Given the description of an element on the screen output the (x, y) to click on. 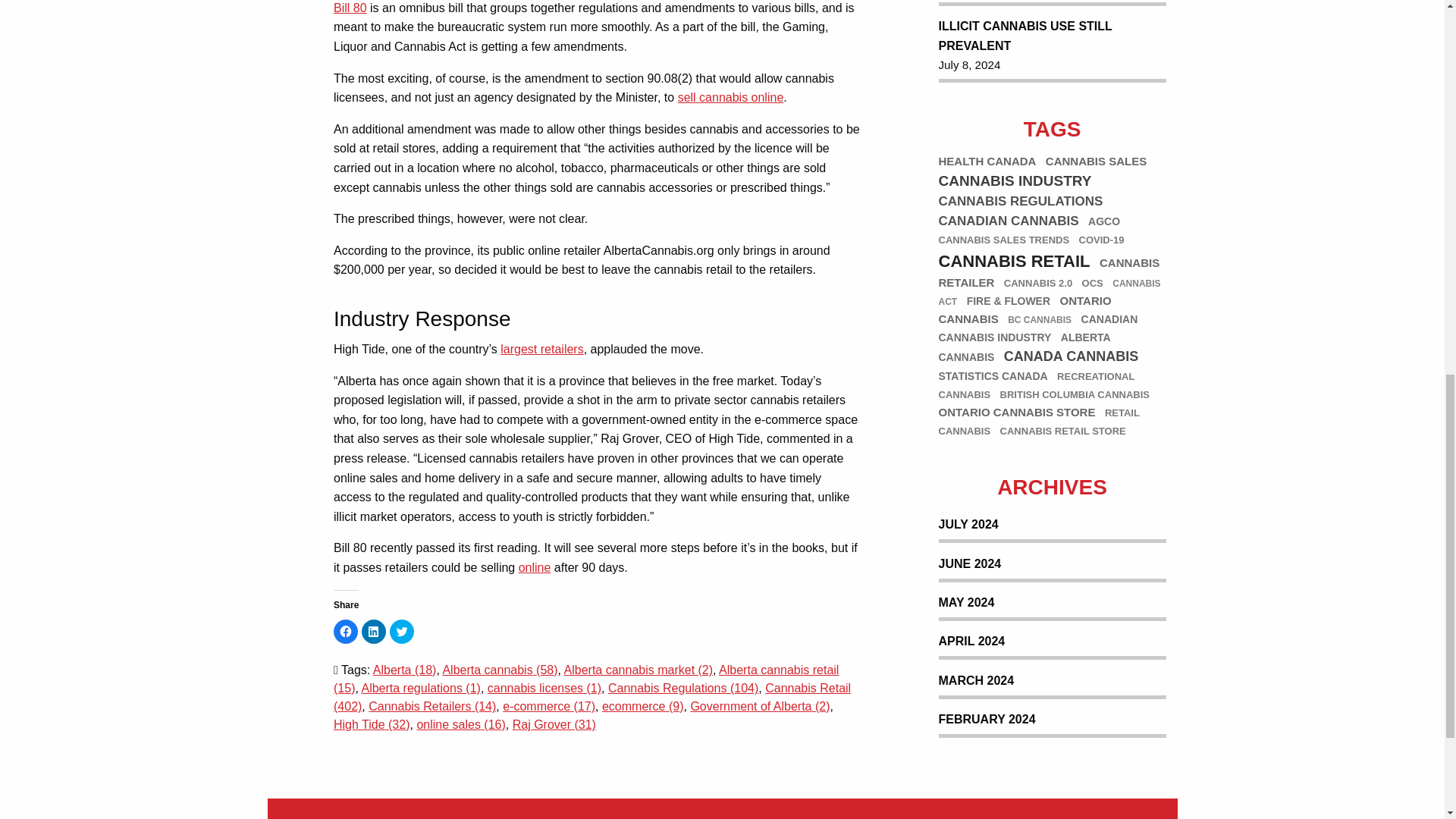
largest retailers (541, 349)
Click to share on Twitter (401, 631)
Bill 80 (349, 7)
online (534, 567)
sell cannabis online (731, 97)
Click to share on LinkedIn (373, 631)
Click to share on Facebook (345, 631)
